Given the description of an element on the screen output the (x, y) to click on. 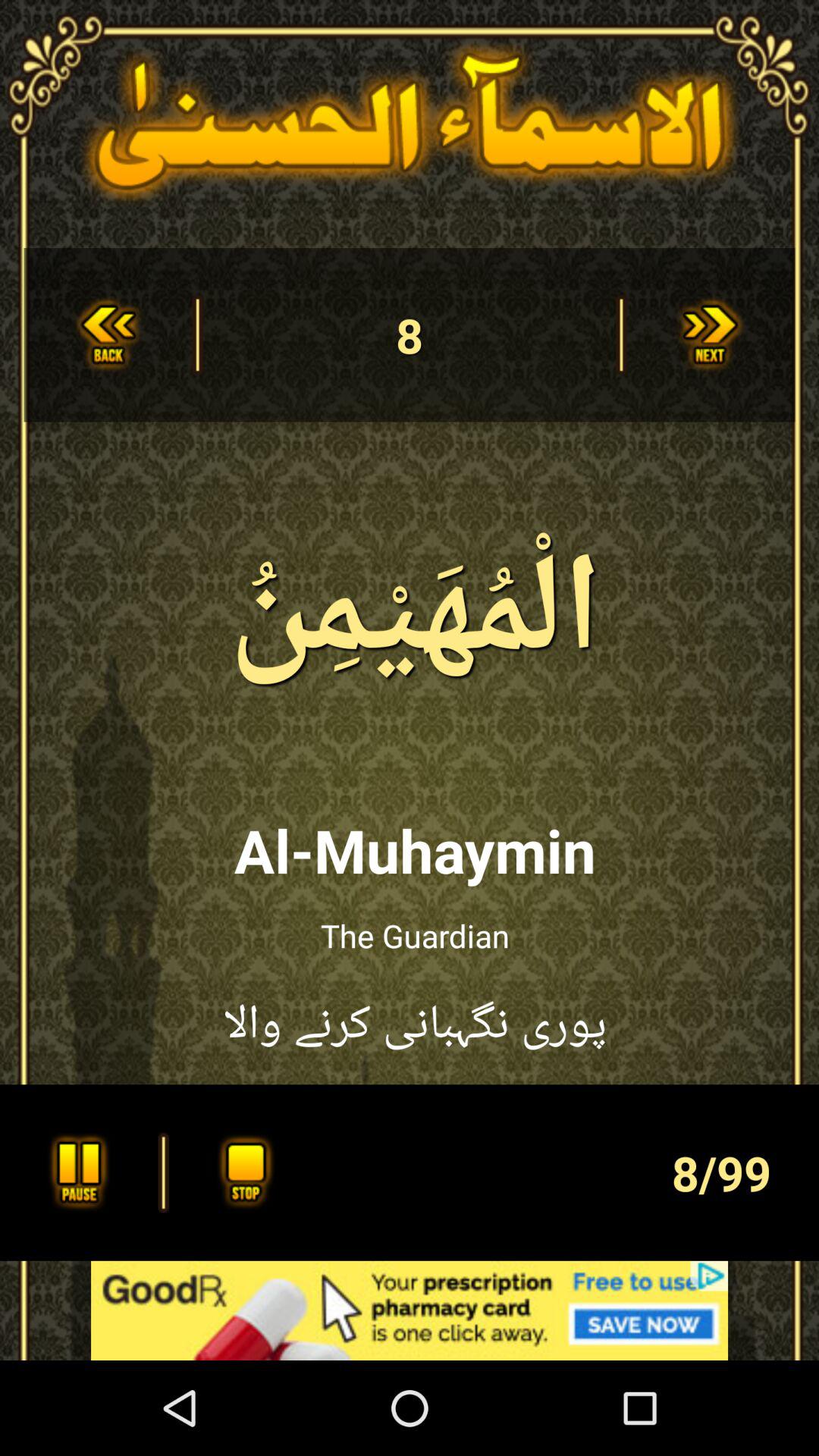
go to next (710, 334)
